Given the description of an element on the screen output the (x, y) to click on. 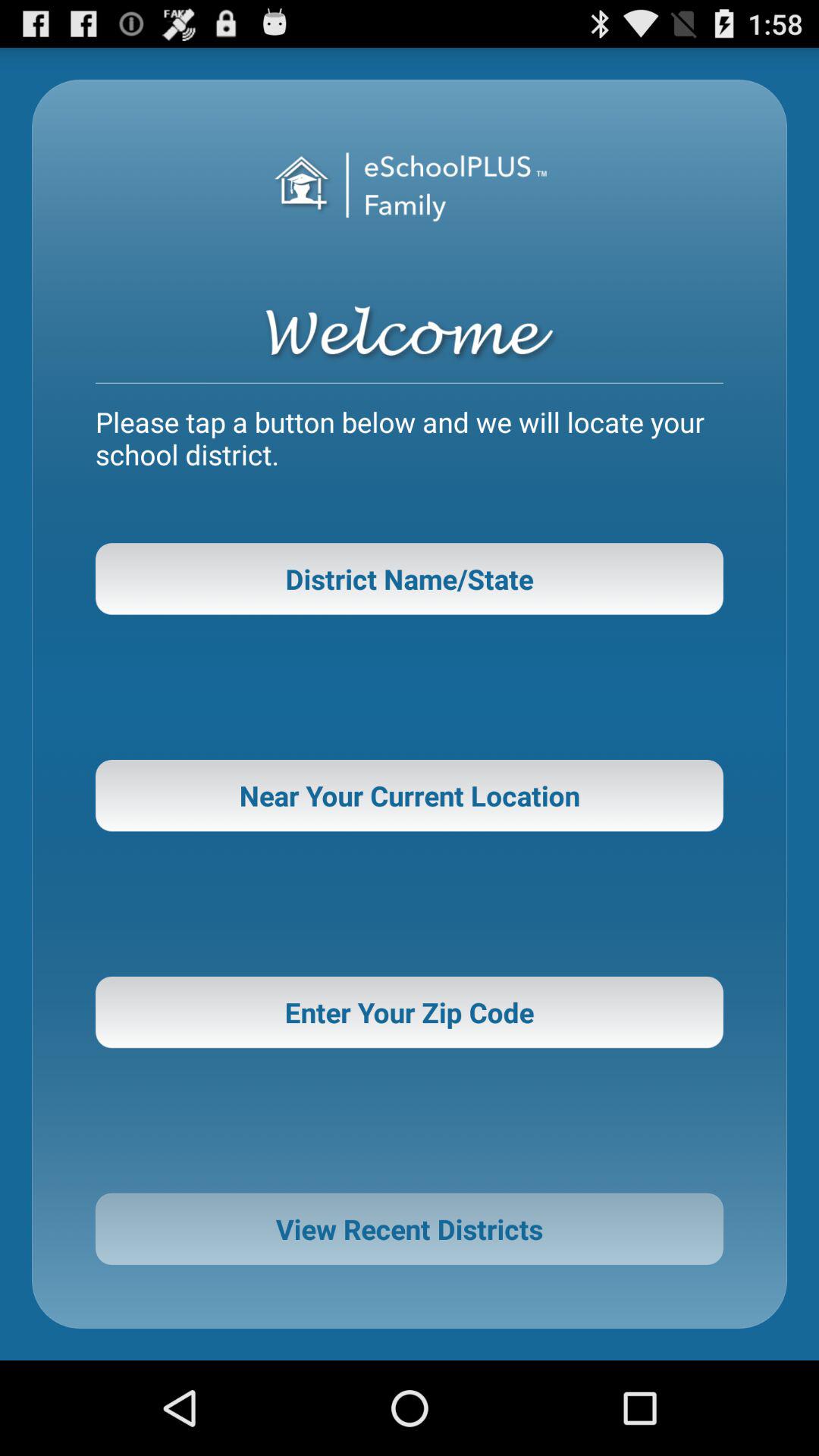
flip to near your current (409, 795)
